Given the description of an element on the screen output the (x, y) to click on. 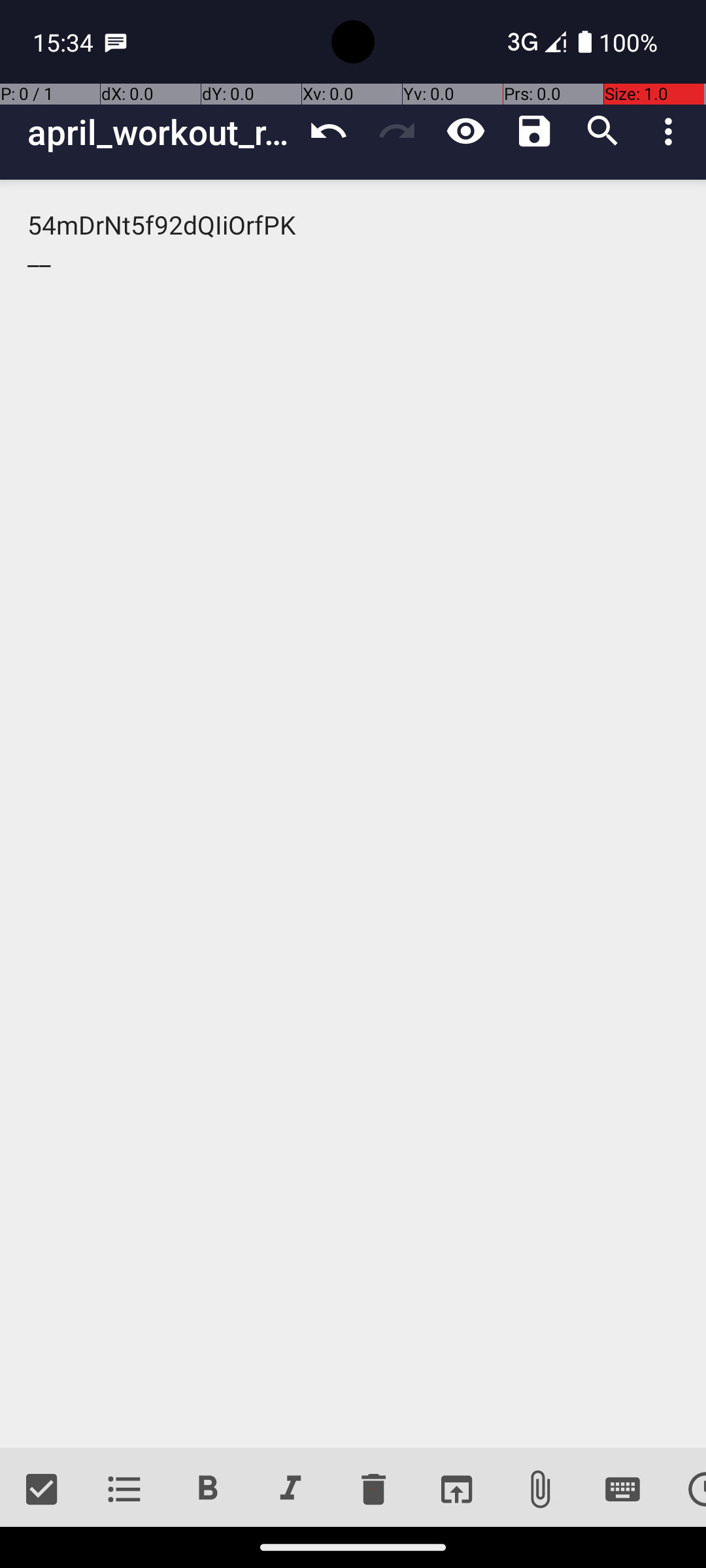
april_workout_routine_2023_02_19 Element type: android.widget.TextView (160, 131)
54mDrNt5f92dQIiOrfPK
__ Element type: android.widget.EditText (353, 813)
